Given the description of an element on the screen output the (x, y) to click on. 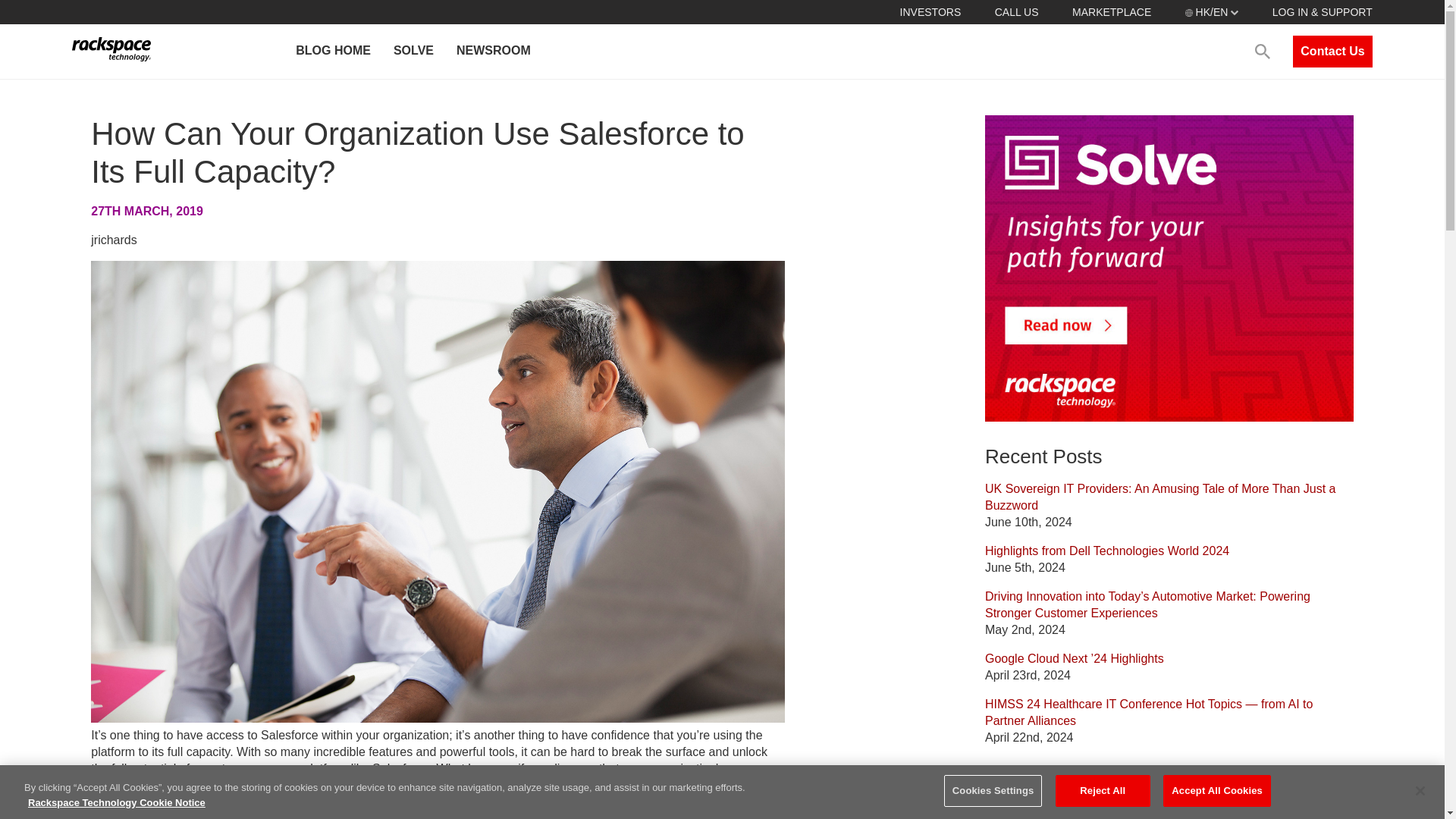
CALL US (1016, 11)
Contact Us (1331, 51)
Highlights from Dell Technologies World 2024 (1106, 550)
NEWSROOM (493, 51)
SOLVE (413, 51)
Blog Home (1015, 816)
BLOG HOME (332, 51)
MARKETPLACE (1111, 11)
INVESTORS (929, 11)
